Given the description of an element on the screen output the (x, y) to click on. 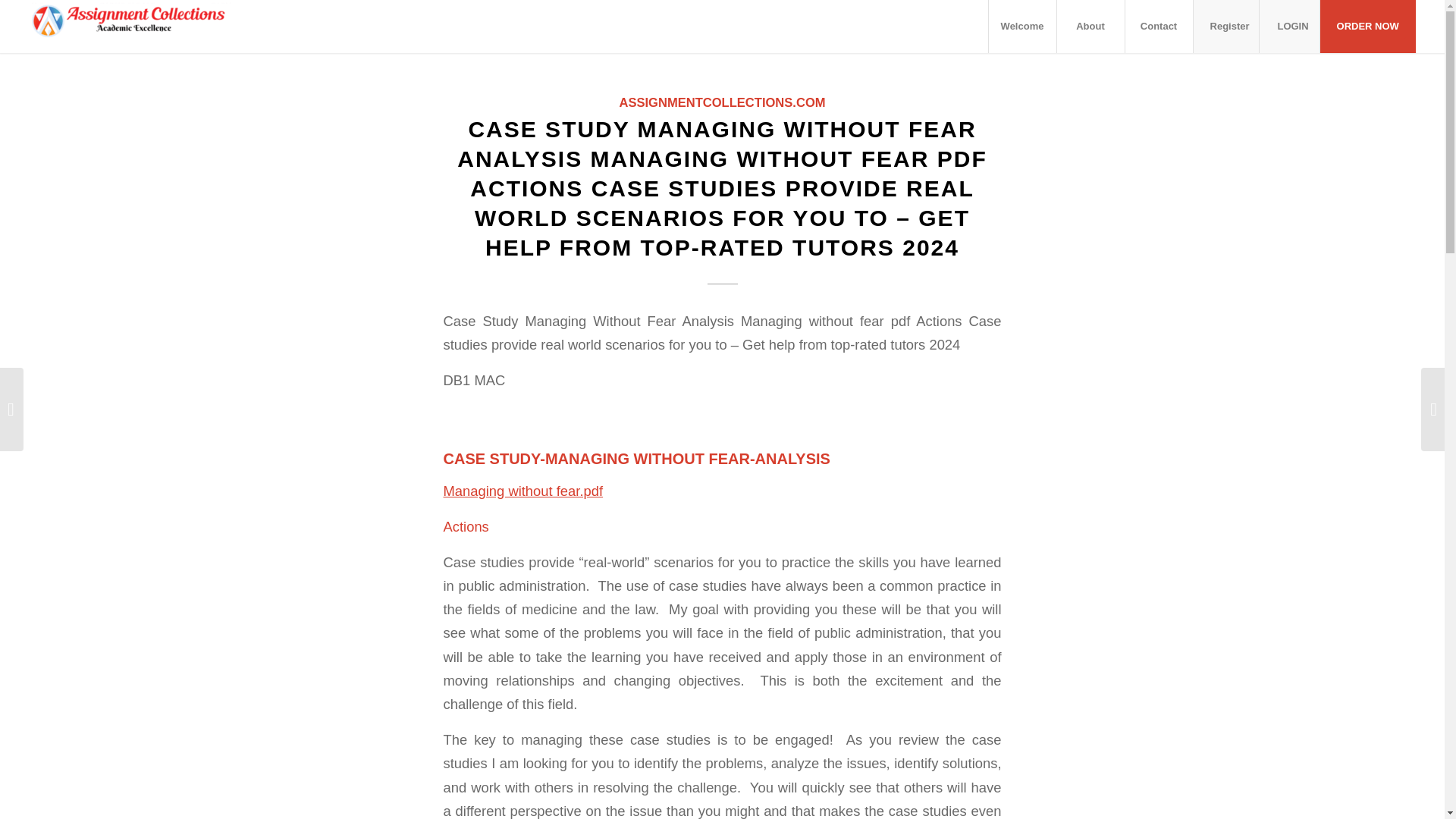
ORDER NOW (1367, 26)
Managing without fear.pdf (522, 490)
Register (1229, 26)
Contact (1158, 26)
Welcome (1022, 26)
About (1090, 26)
ASSIGNMENTCOLLECTIONS.COM (721, 102)
Actions (464, 526)
LOGIN (1292, 26)
Managing without fear.pdf (522, 490)
